Given the description of an element on the screen output the (x, y) to click on. 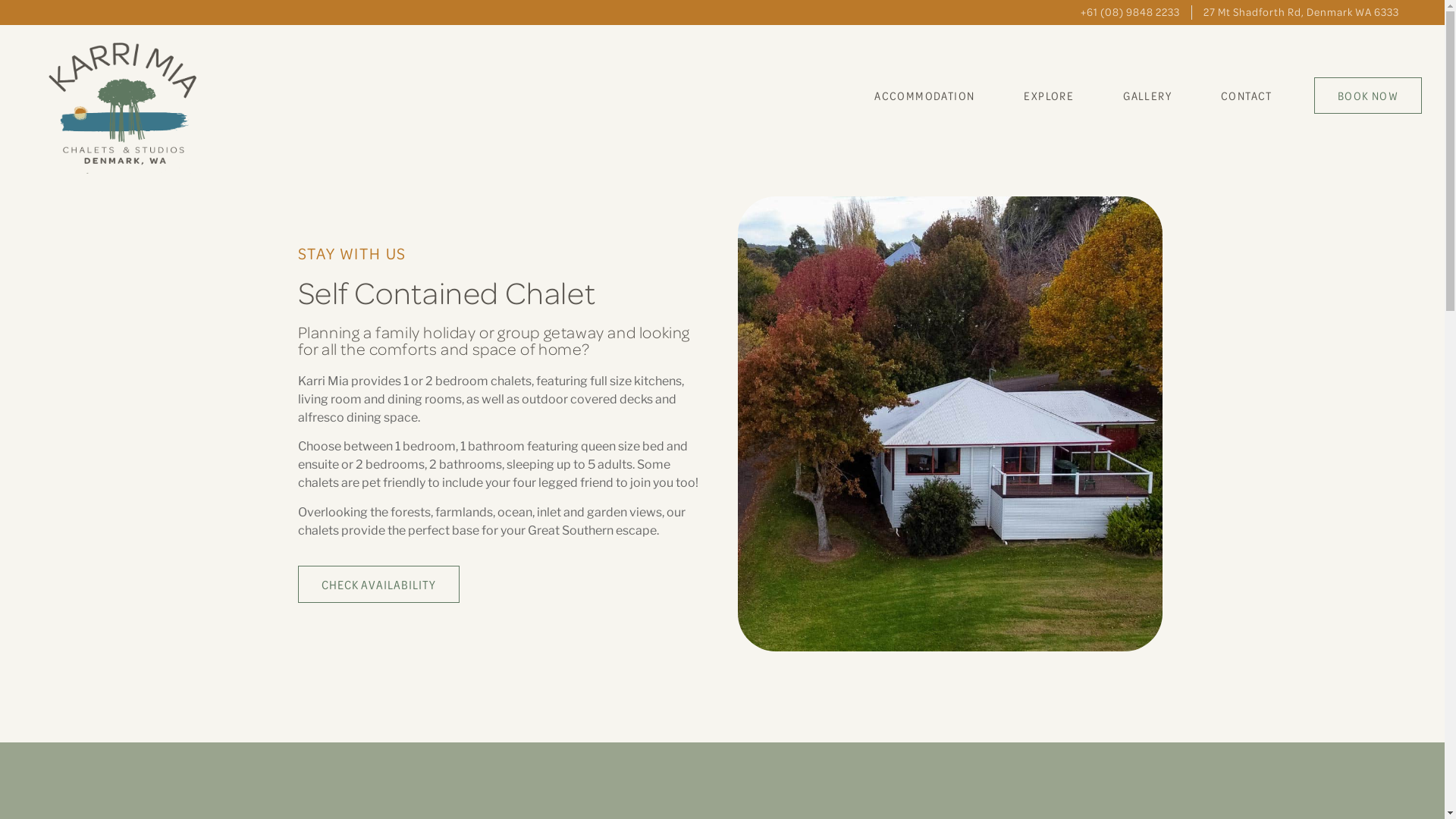
ACCOMMODATION Element type: text (924, 95)
BOOK NOW Element type: text (1367, 95)
CONTACT Element type: text (1246, 95)
EXPLORE Element type: text (1048, 95)
CHECK AVAILABILITY Element type: text (377, 583)
GALLERY Element type: text (1146, 95)
